Given the description of an element on the screen output the (x, y) to click on. 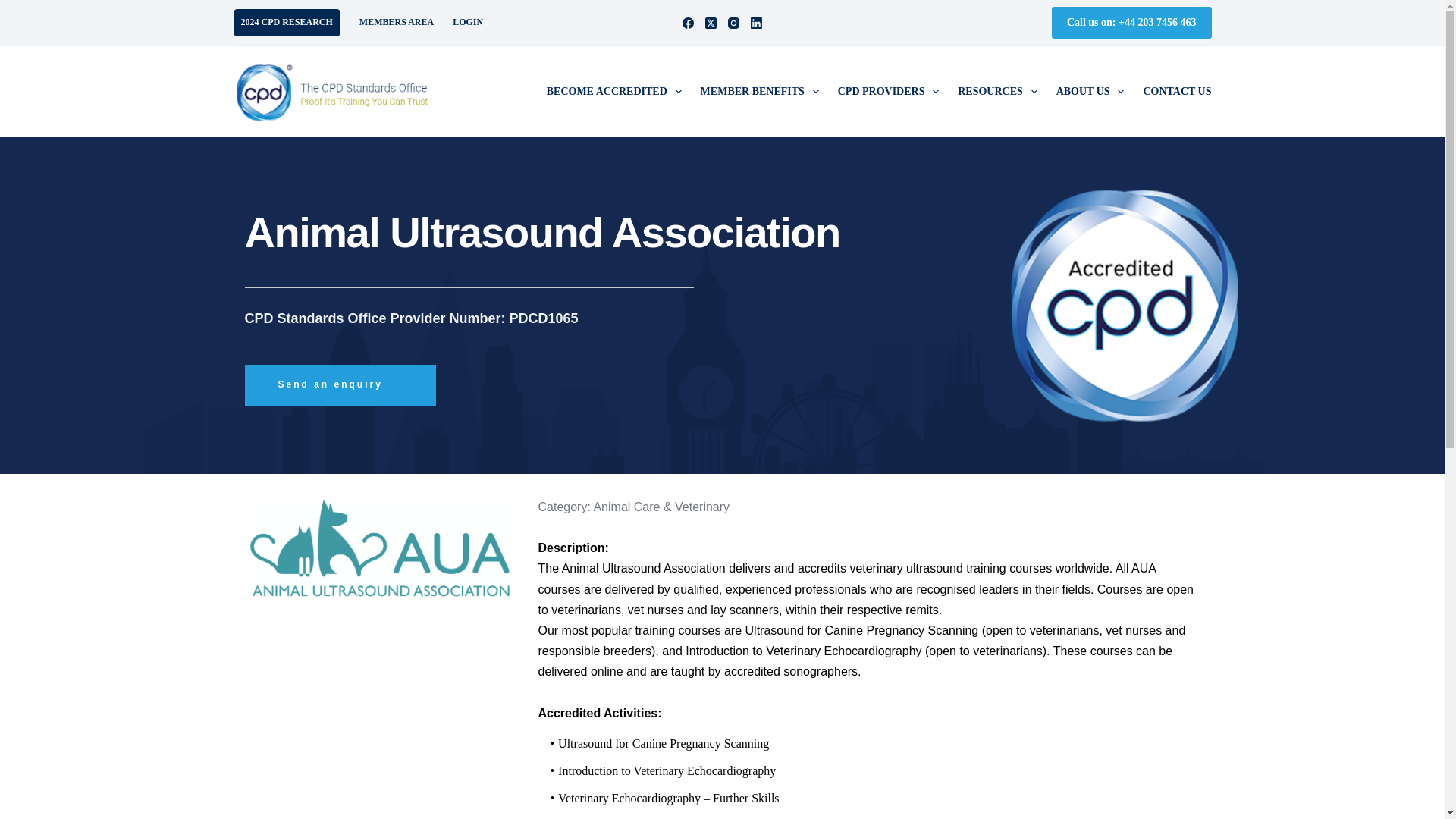
Skip to content (15, 7)
